Given the description of an element on the screen output the (x, y) to click on. 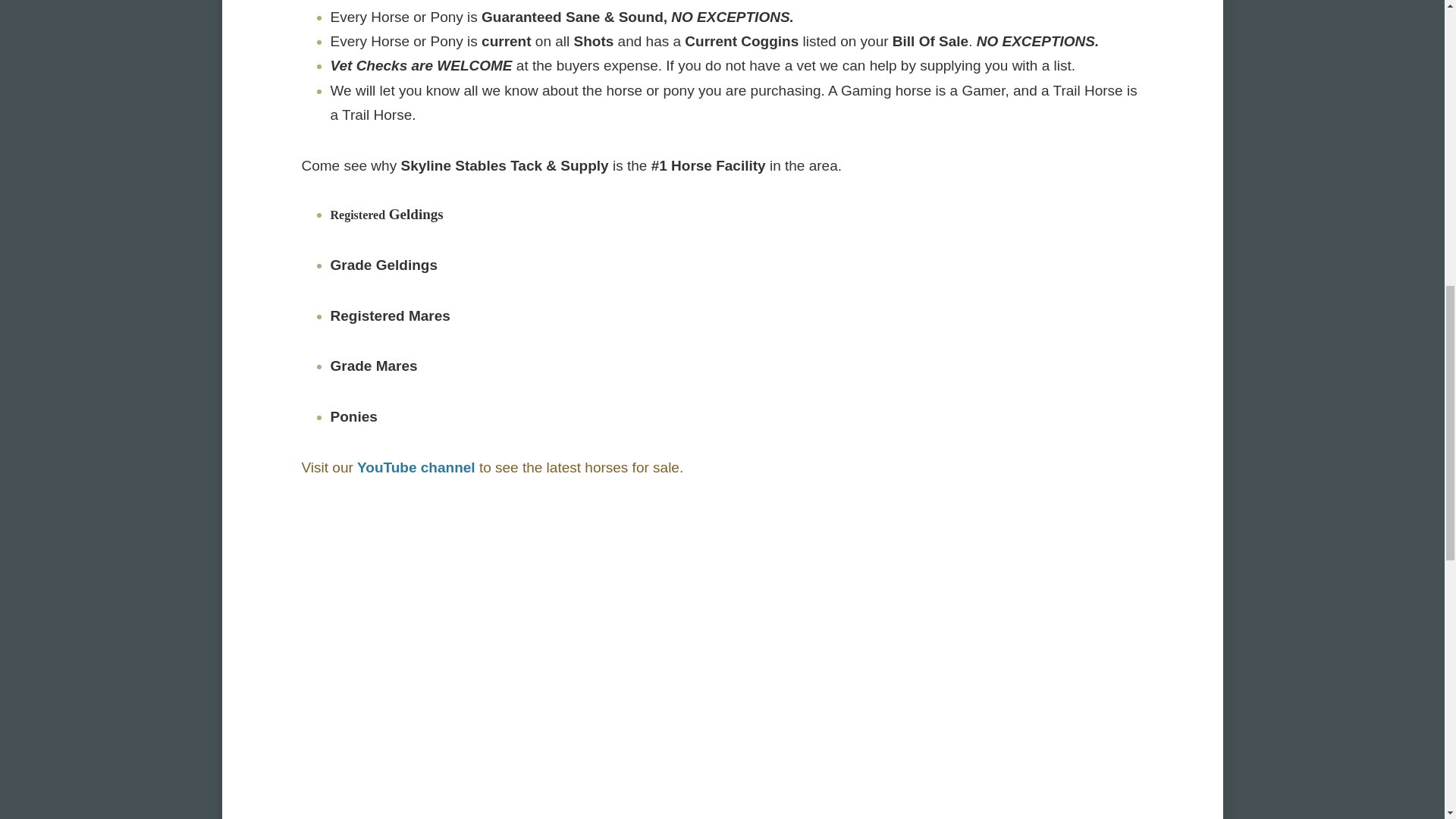
YouTube channel (416, 467)
